Given the description of an element on the screen output the (x, y) to click on. 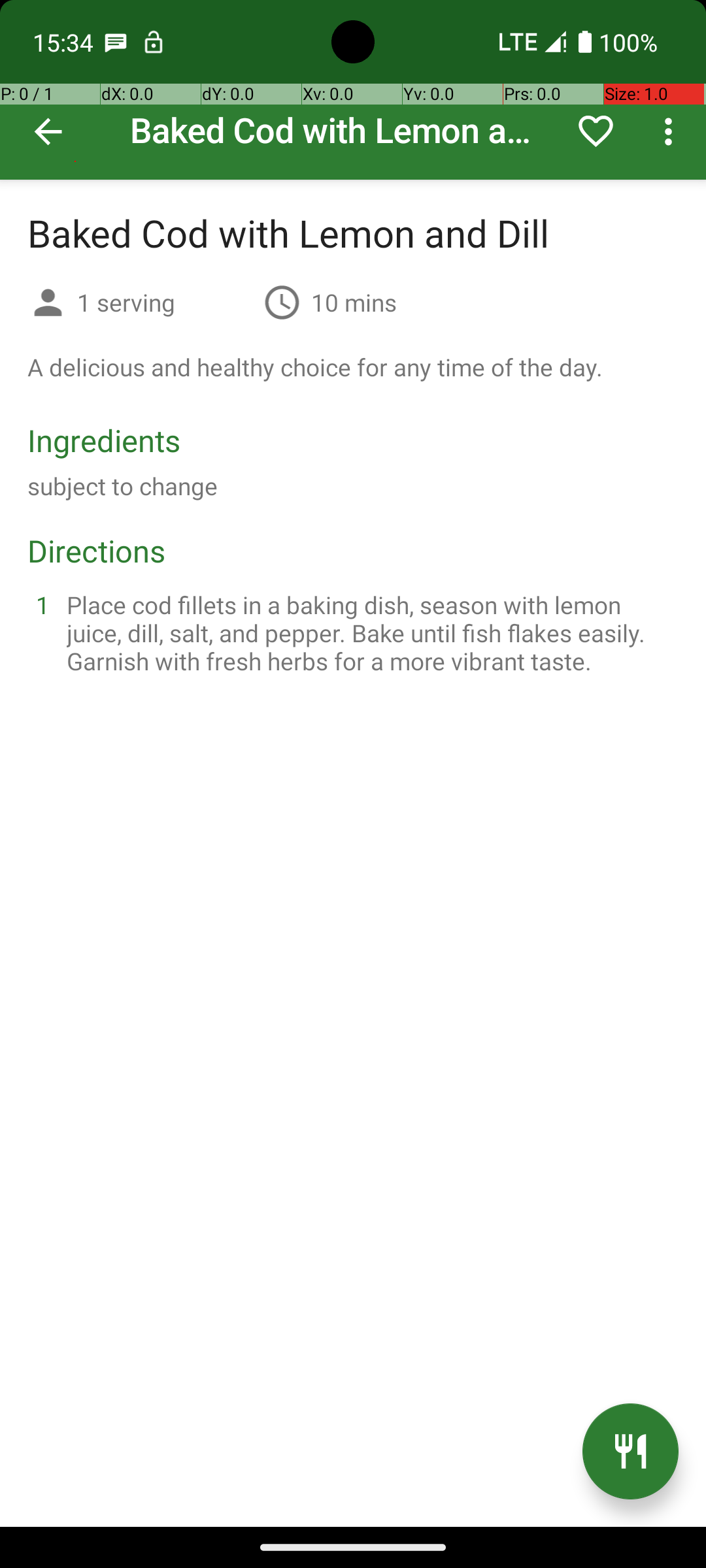
Place cod fillets in a baking dish, season with lemon juice, dill, salt, and pepper. Bake until fish flakes easily. Garnish with fresh herbs for a more vibrant taste. Element type: android.widget.TextView (368, 632)
